Given the description of an element on the screen output the (x, y) to click on. 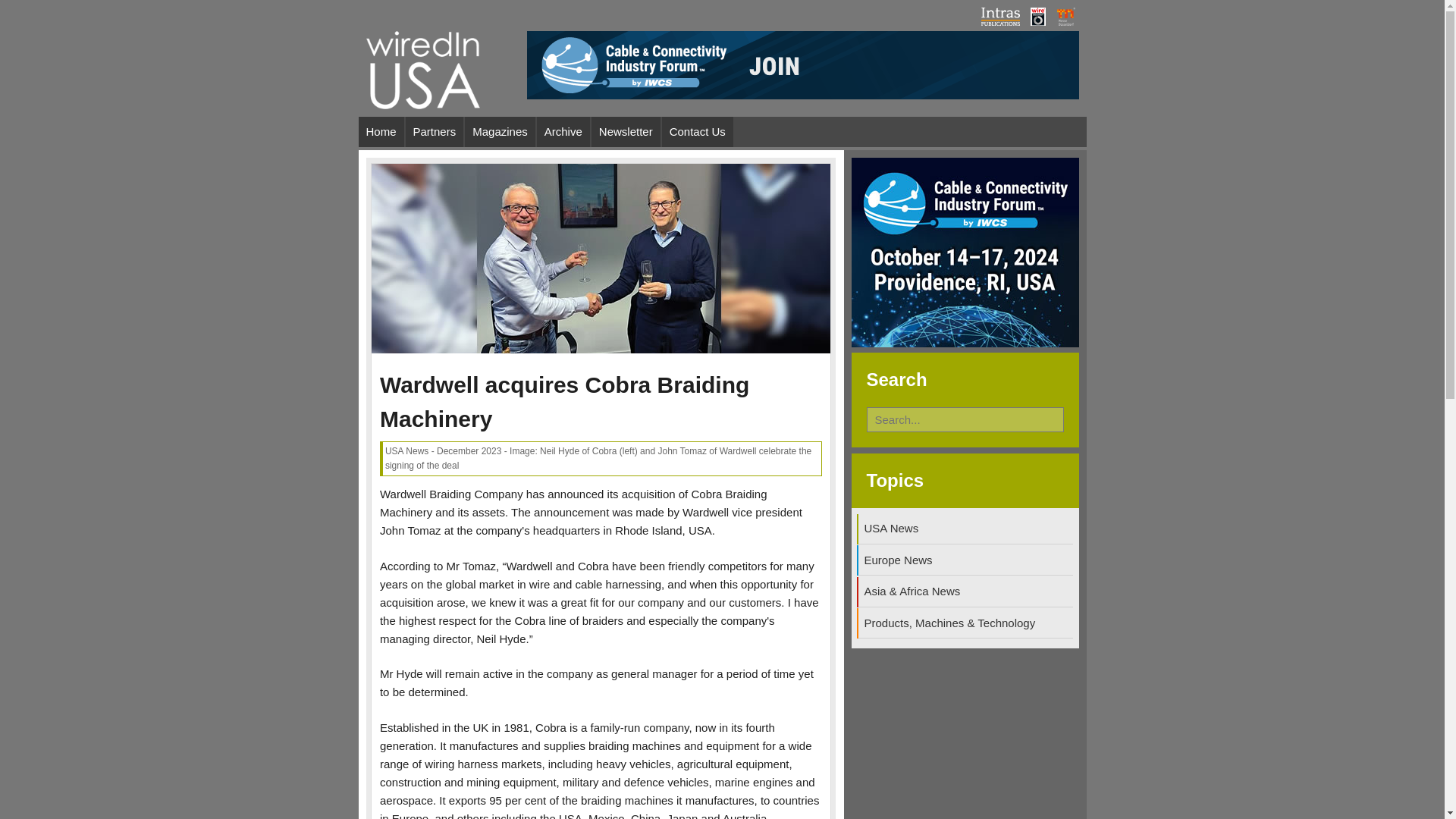
USA News (966, 529)
TEMP - IWCS (964, 342)
Partners (435, 132)
Home (380, 132)
Newsletter (626, 132)
TEMP - IWCS (801, 94)
Europe News (966, 560)
Intras website (999, 21)
Magazines (499, 132)
Archive (563, 132)
